Given the description of an element on the screen output the (x, y) to click on. 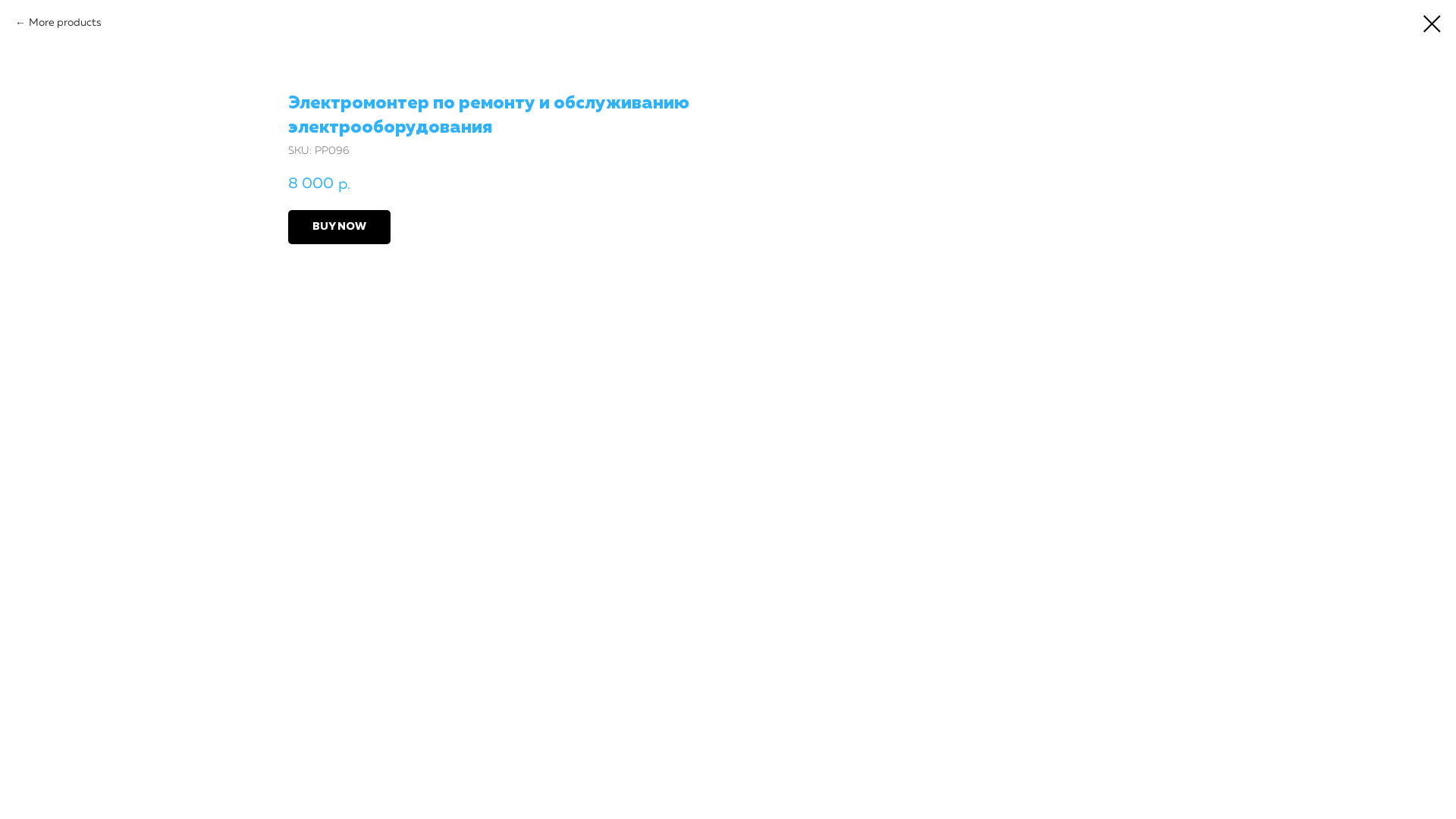
BUY NOW Element type: text (339, 227)
More products Element type: text (58, 23)
